Given the description of an element on the screen output the (x, y) to click on. 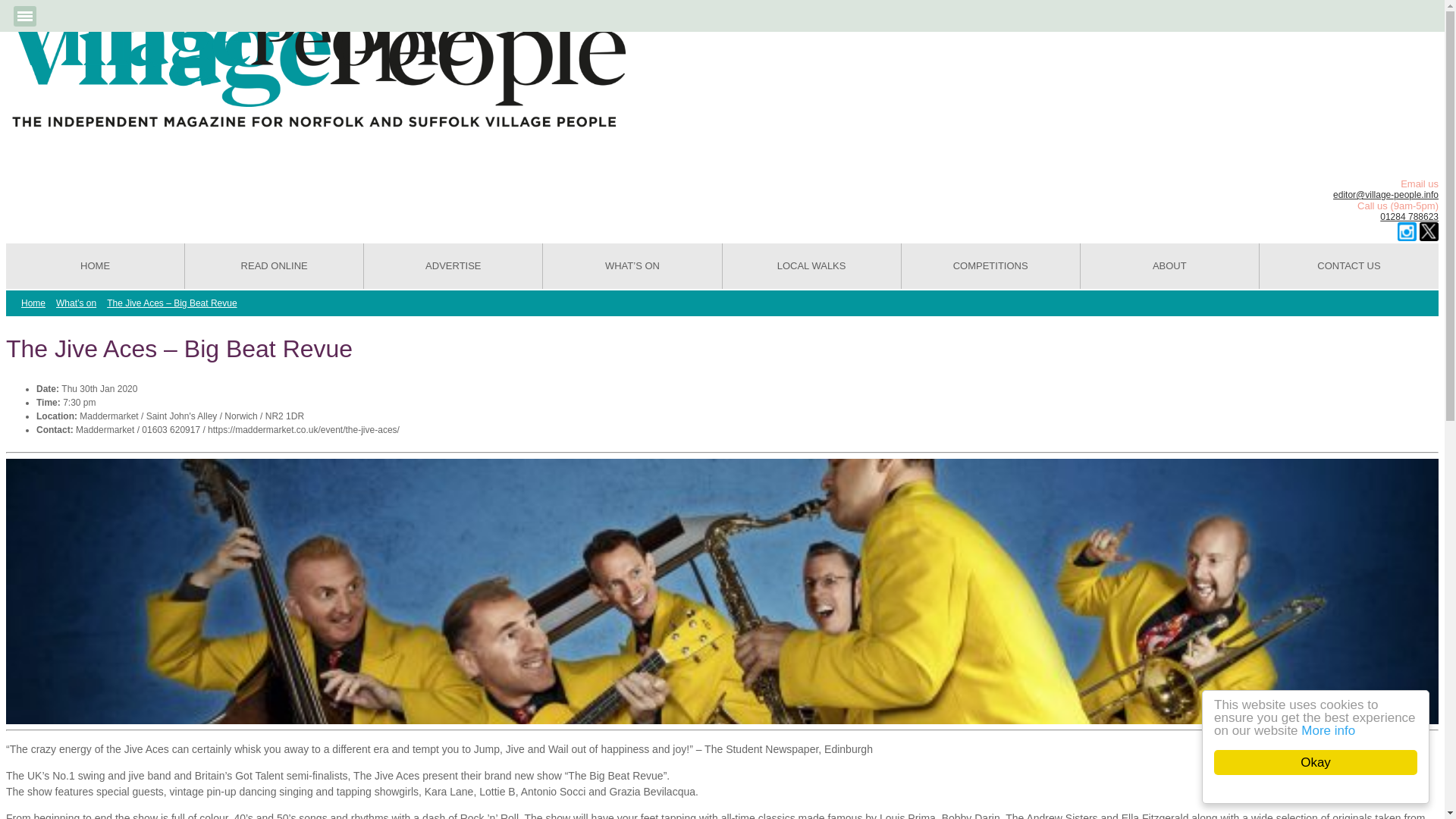
LOCAL WALKS (811, 266)
ABOUT (1169, 266)
Follow Village People on Instagram (1406, 230)
More info (1343, 730)
HOME (94, 266)
Okay (1329, 762)
Cookie Consent plugin for the EU cookie law (1327, 788)
COMPETITIONS (990, 266)
READ ONLINE (274, 266)
ADVERTISE (453, 266)
